Given the description of an element on the screen output the (x, y) to click on. 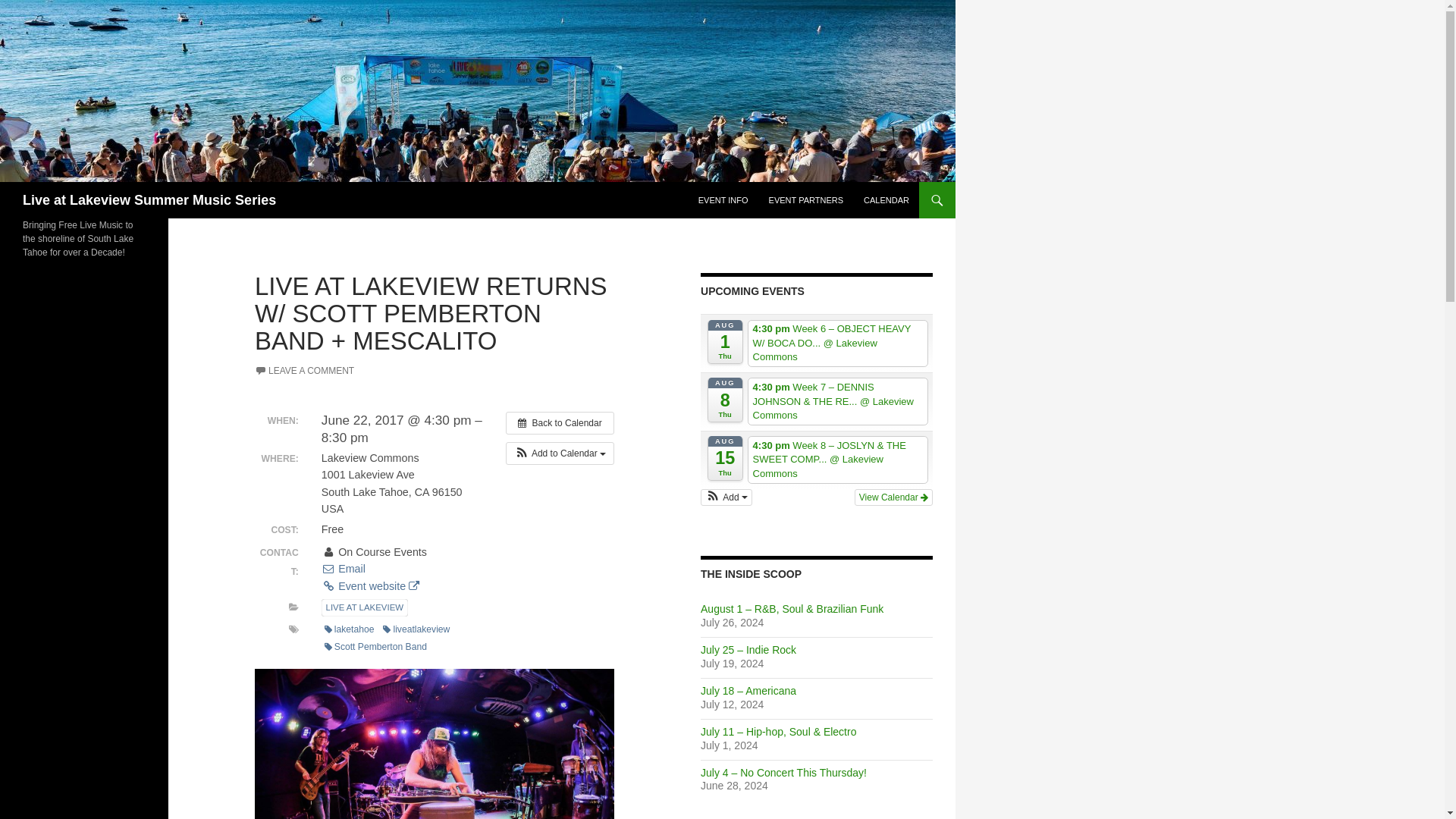
EVENT PARTNERS (805, 199)
CALENDAR (886, 199)
View all events (559, 422)
EVENT INFO (722, 199)
Back to Calendar (559, 422)
Event website (370, 585)
LEAVE A COMMENT (303, 370)
LIVE AT LAKEVIEW (364, 607)
Scott Pemberton Band (375, 647)
Live at Lakeview Summer Music Series (149, 199)
liveatlakeview (416, 629)
Categories (293, 606)
Email (343, 568)
laketahoe (349, 629)
